Given the description of an element on the screen output the (x, y) to click on. 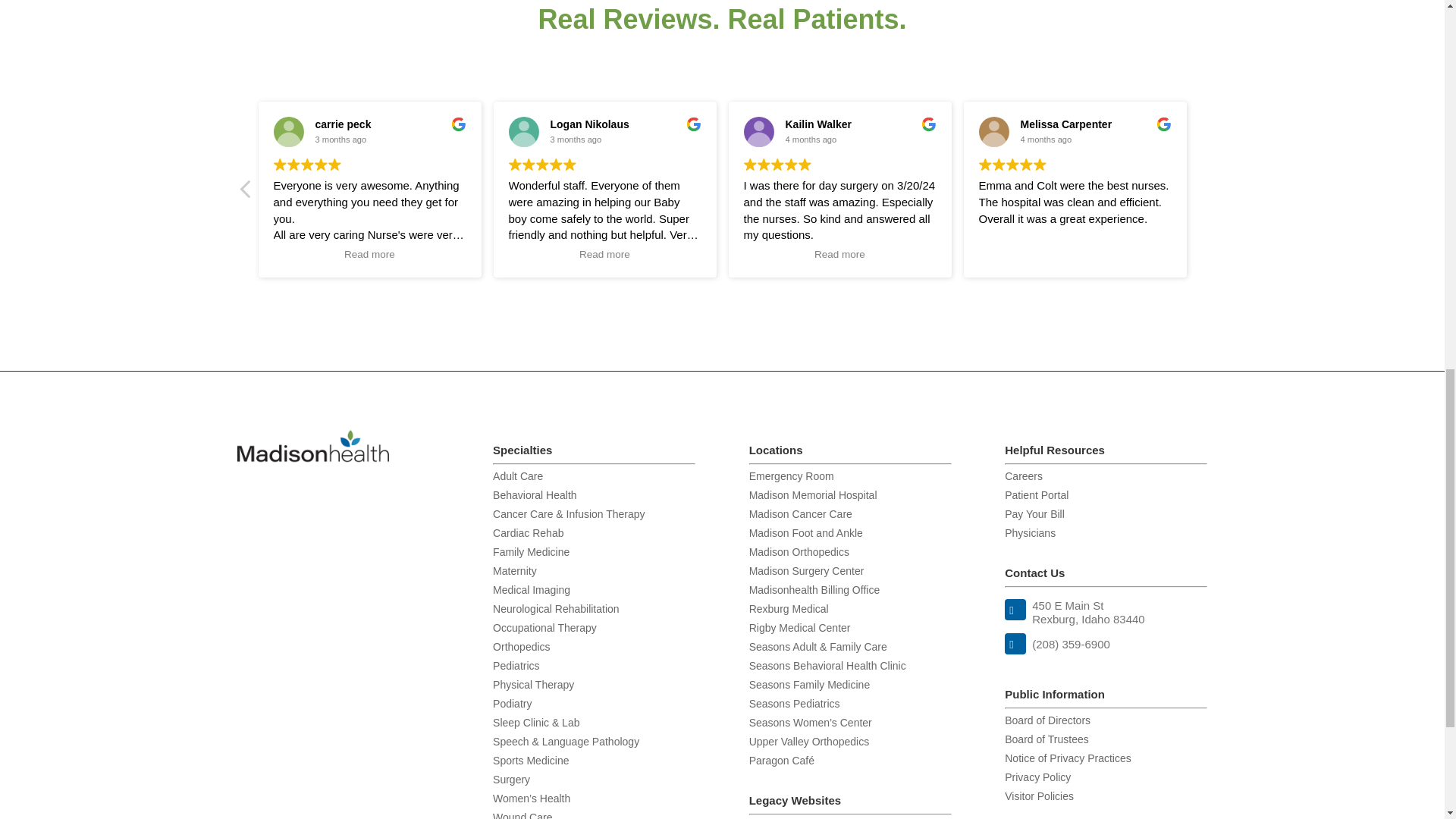
Madisonhealth-color-print (311, 446)
